Given the description of an element on the screen output the (x, y) to click on. 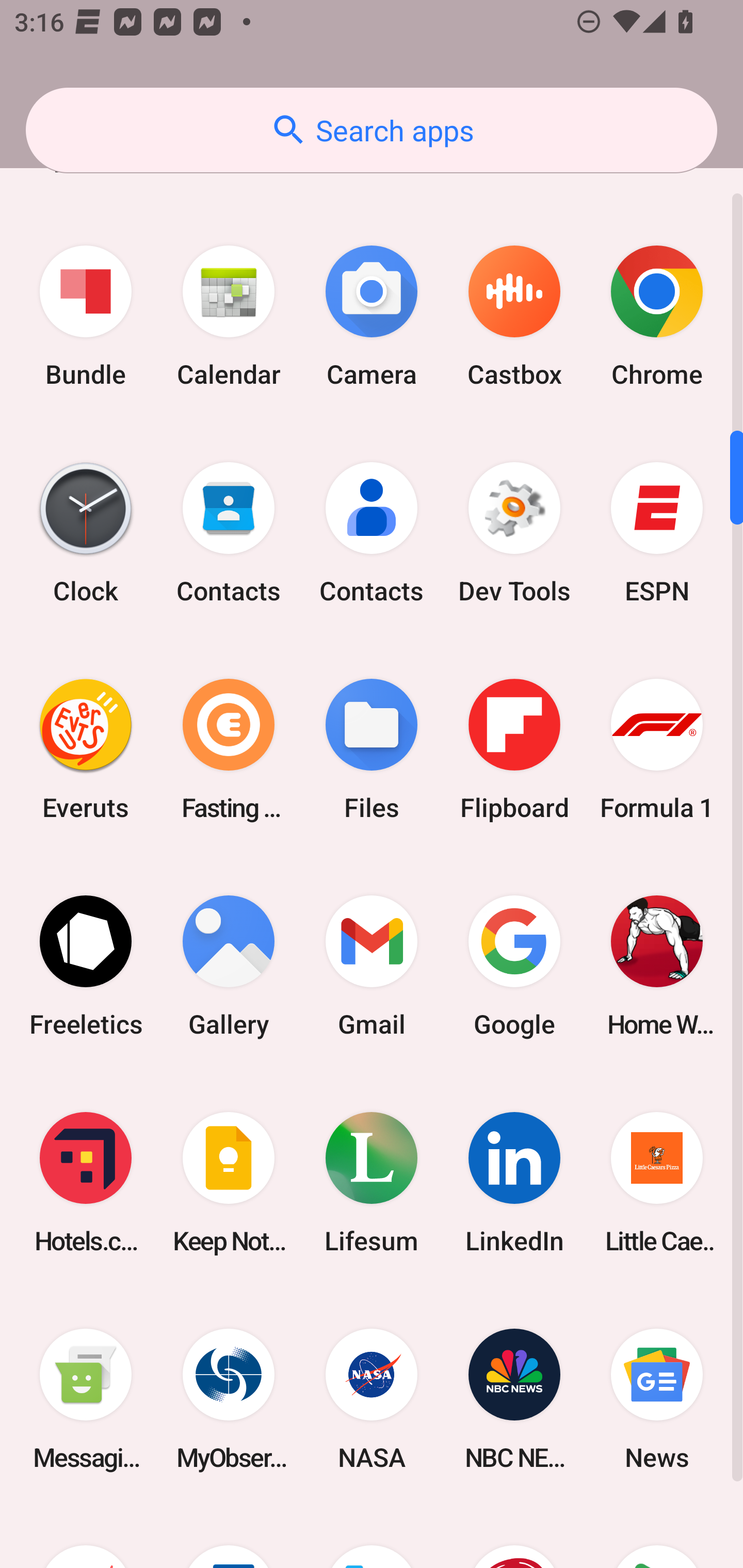
  Search apps (371, 130)
Bundle (85, 316)
Calendar (228, 316)
Camera (371, 316)
Castbox (514, 316)
Chrome (656, 316)
Clock (85, 532)
Contacts (228, 532)
Contacts (371, 532)
Dev Tools (514, 532)
ESPN (656, 532)
Everuts (85, 749)
Fasting Coach (228, 749)
Files (371, 749)
Flipboard (514, 749)
Formula 1 (656, 749)
Freeletics (85, 965)
Gallery (228, 965)
Gmail (371, 965)
Google (514, 965)
Home Workout (656, 965)
Hotels.com (85, 1182)
Keep Notes (228, 1182)
Lifesum (371, 1182)
LinkedIn (514, 1182)
Little Caesars Pizza (656, 1182)
Messaging (85, 1399)
MyObservatory (228, 1399)
NASA (371, 1399)
NBC NEWS (514, 1399)
News (656, 1399)
